Given the description of an element on the screen output the (x, y) to click on. 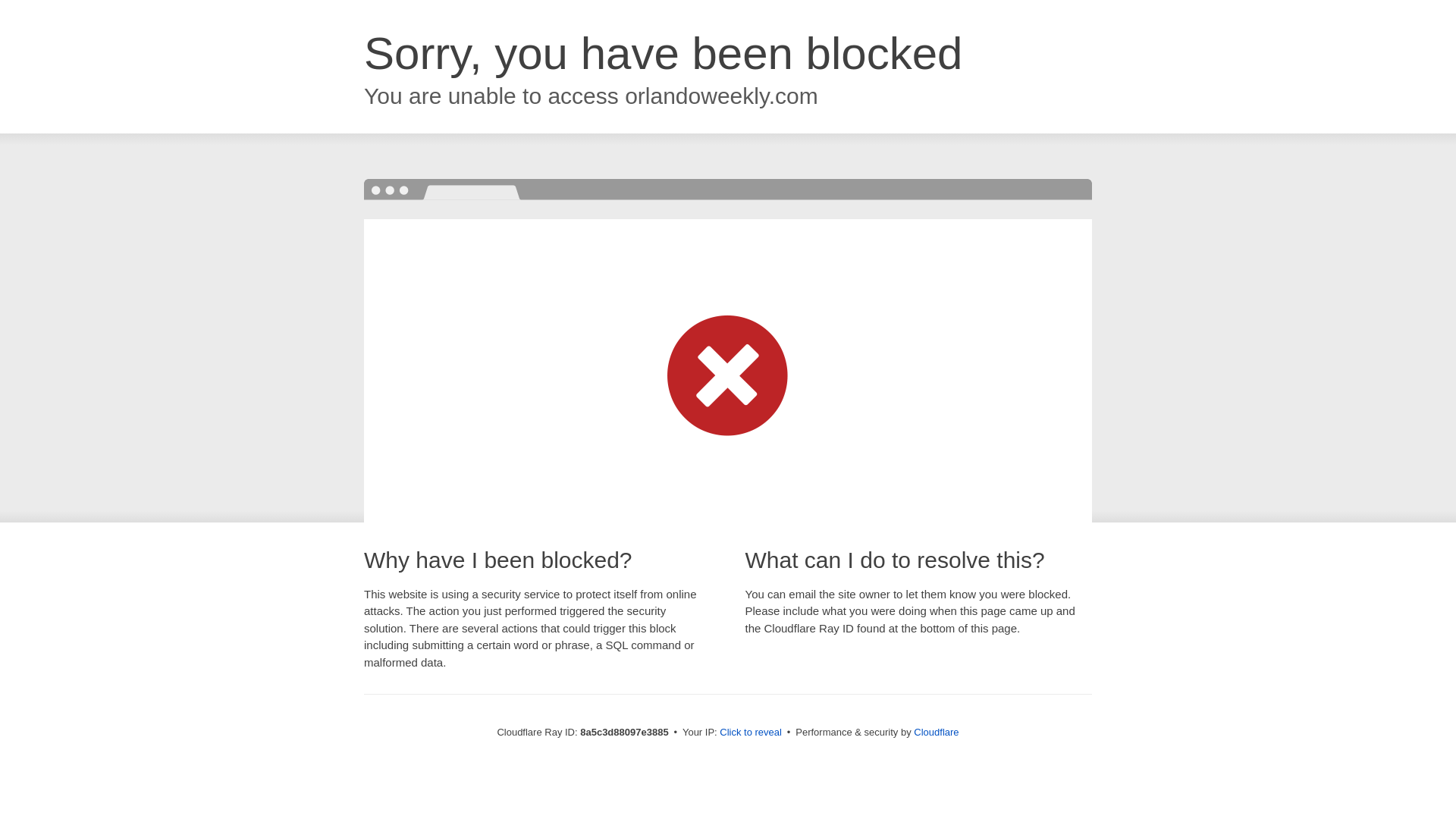
Cloudflare (936, 731)
Click to reveal (750, 732)
